Given the description of an element on the screen output the (x, y) to click on. 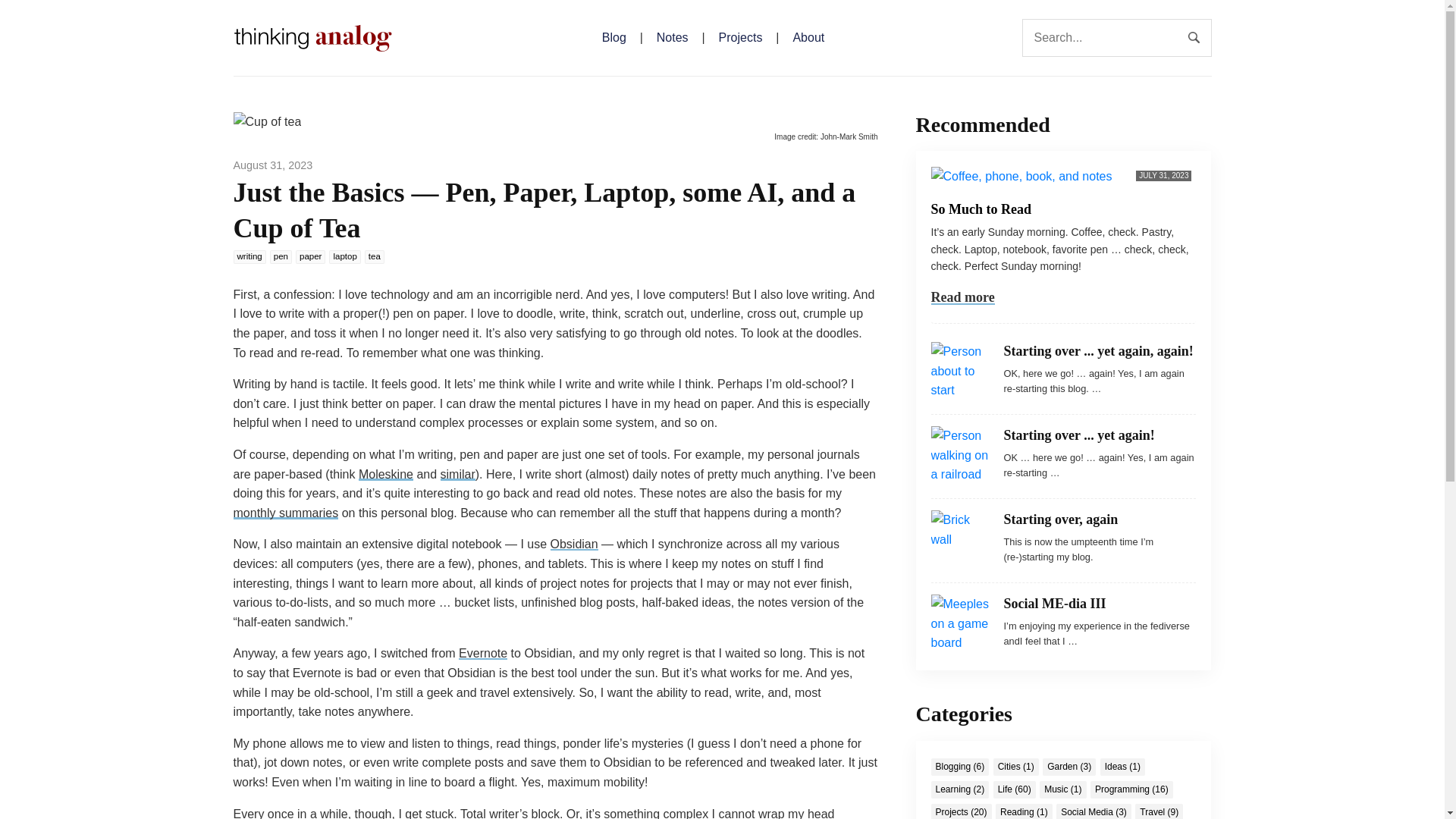
paper (309, 256)
Projects (740, 37)
Obsidian (574, 543)
laptop (344, 256)
Notes (672, 37)
So Much to Read (981, 209)
writing (249, 256)
Blog (614, 37)
Moleskine (385, 473)
Read more (962, 296)
About (808, 37)
John-Mark Smith (849, 136)
tea (374, 256)
similar (458, 473)
monthly summaries (285, 512)
